Given the description of an element on the screen output the (x, y) to click on. 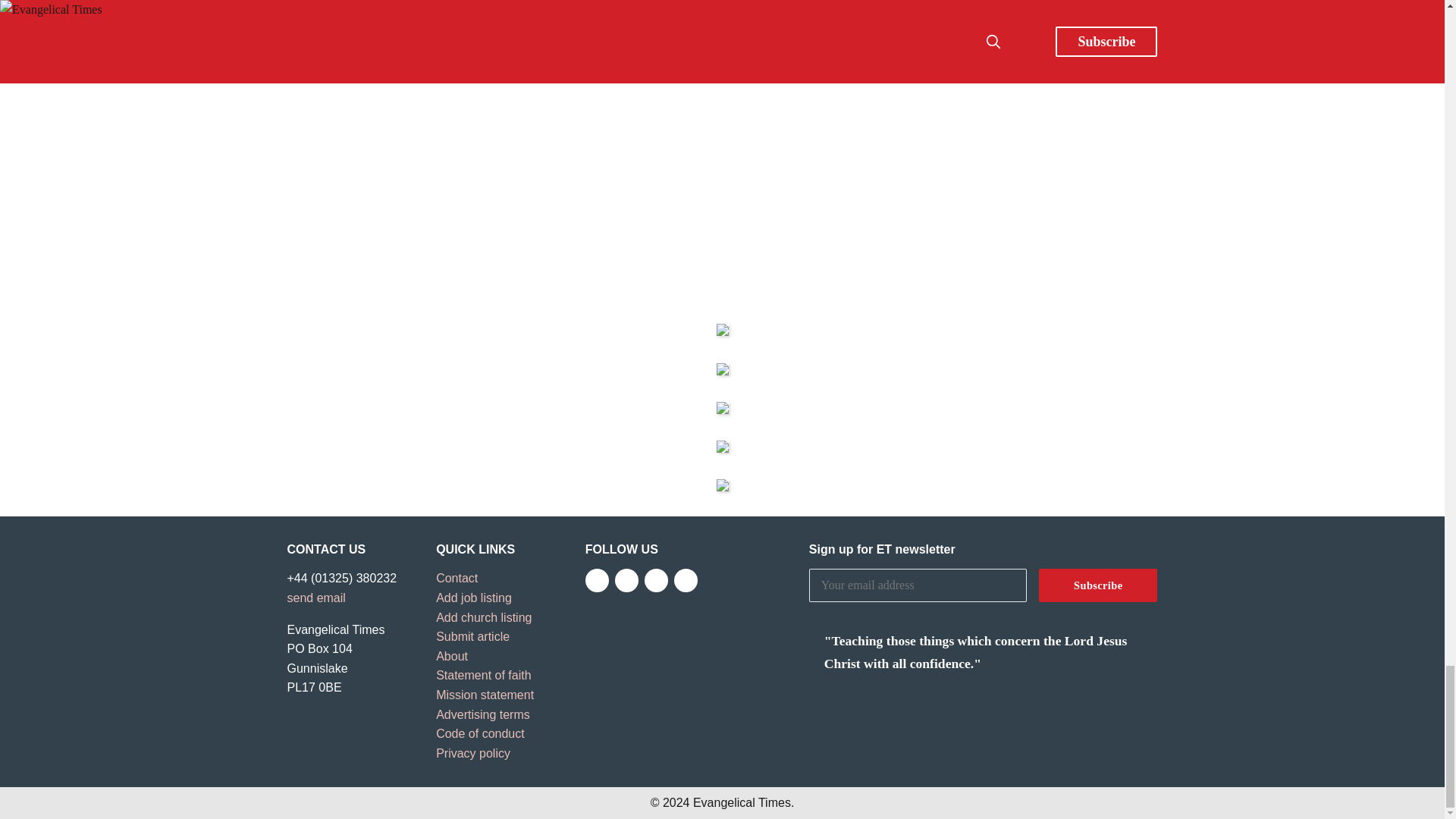
Twitter (626, 580)
Linkedin (685, 580)
Facebook (596, 580)
Instagram (656, 580)
